Given the description of an element on the screen output the (x, y) to click on. 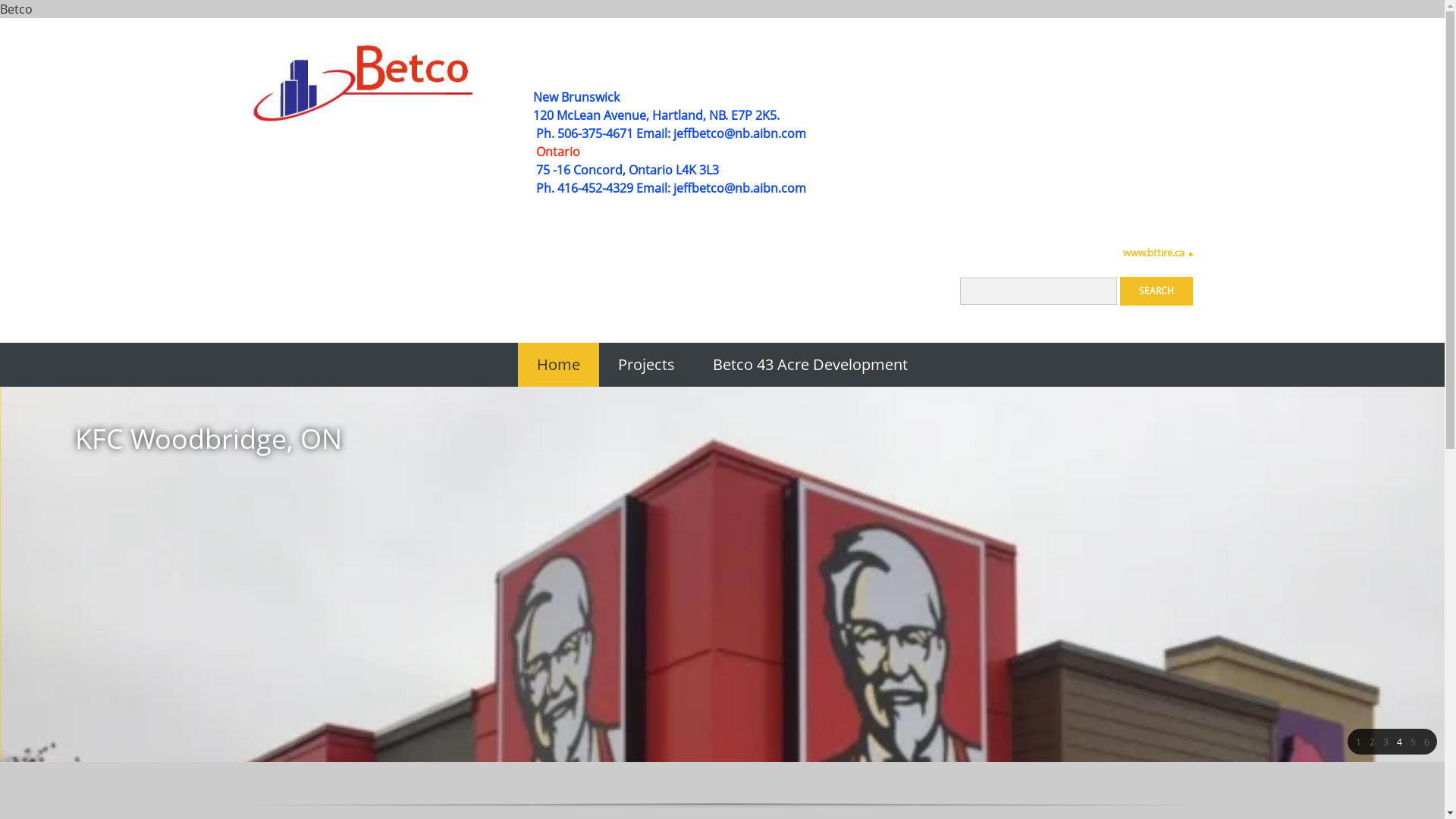
Projects Element type: text (646, 364)
Go to site home page Element type: hover (365, 81)
www.bttire.ca Element type: text (1154, 253)
SEARCH Element type: text (1155, 290)
Betco 43 Acre Development Element type: text (809, 364)
Home Element type: text (558, 364)
